Given the description of an element on the screen output the (x, y) to click on. 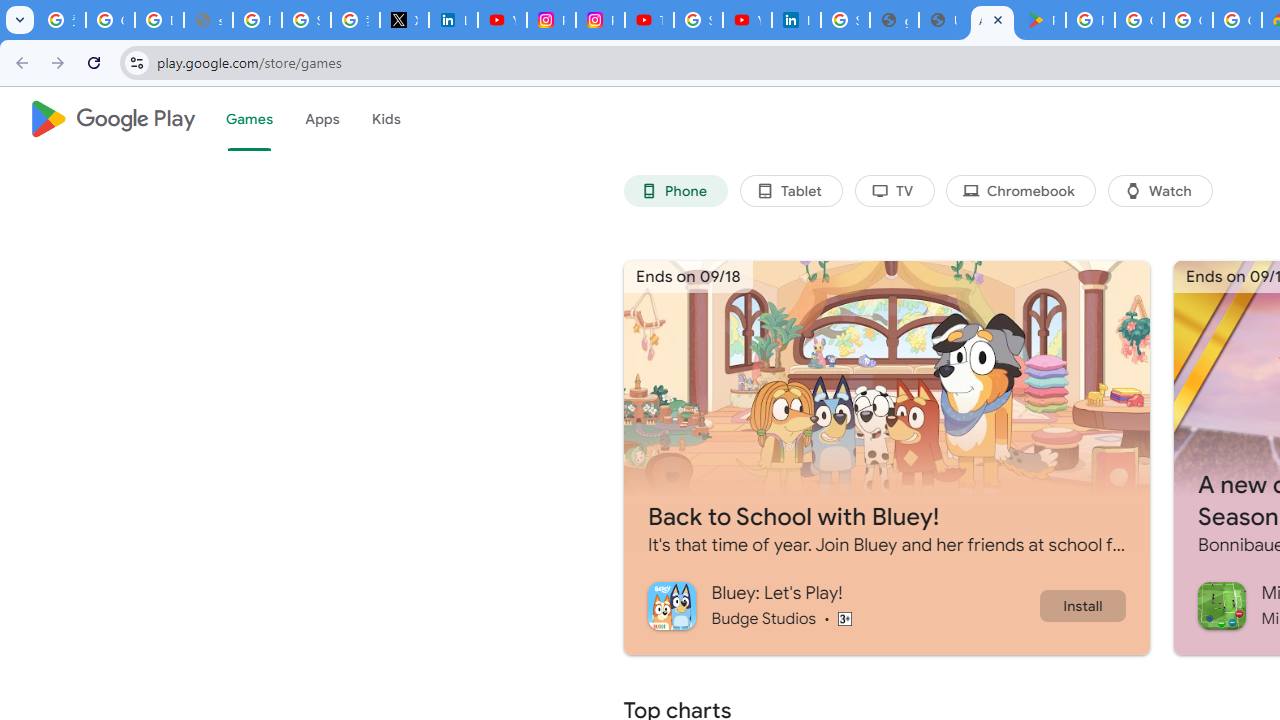
Watch (1160, 190)
support.google.com - Network error (208, 20)
Google Workspace - Specific Terms (1237, 20)
TV (893, 190)
Apps (321, 119)
google_privacy_policy_en.pdf (894, 20)
